Given the description of an element on the screen output the (x, y) to click on. 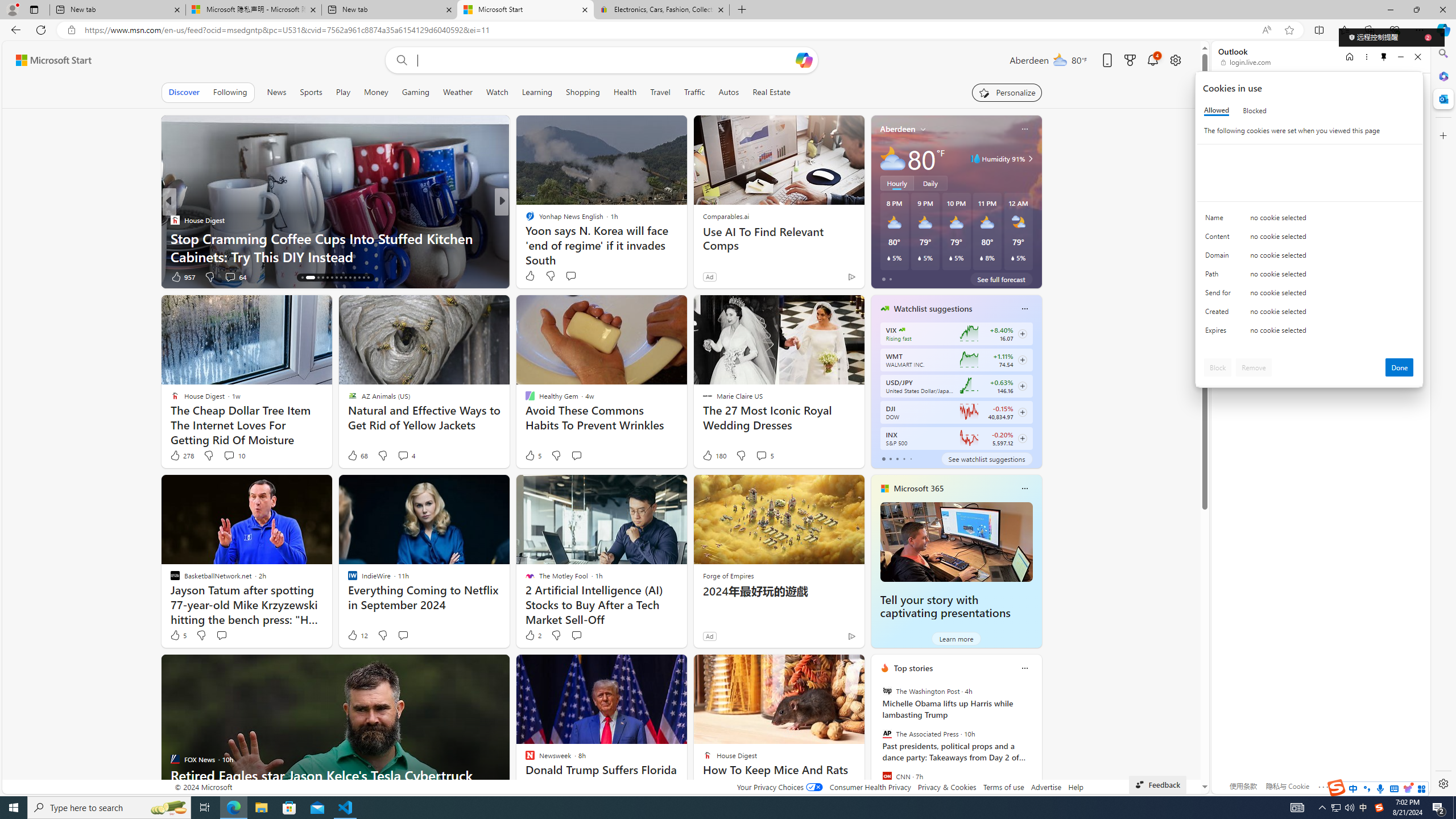
Comparables.ai (724, 215)
Class: follow-button  m (1021, 438)
278 Like (181, 455)
Mostly cloudy (892, 158)
Watchlist suggestions (932, 308)
CBOE Market Volatility Index (901, 329)
1k Like (530, 276)
